Given the description of an element on the screen output the (x, y) to click on. 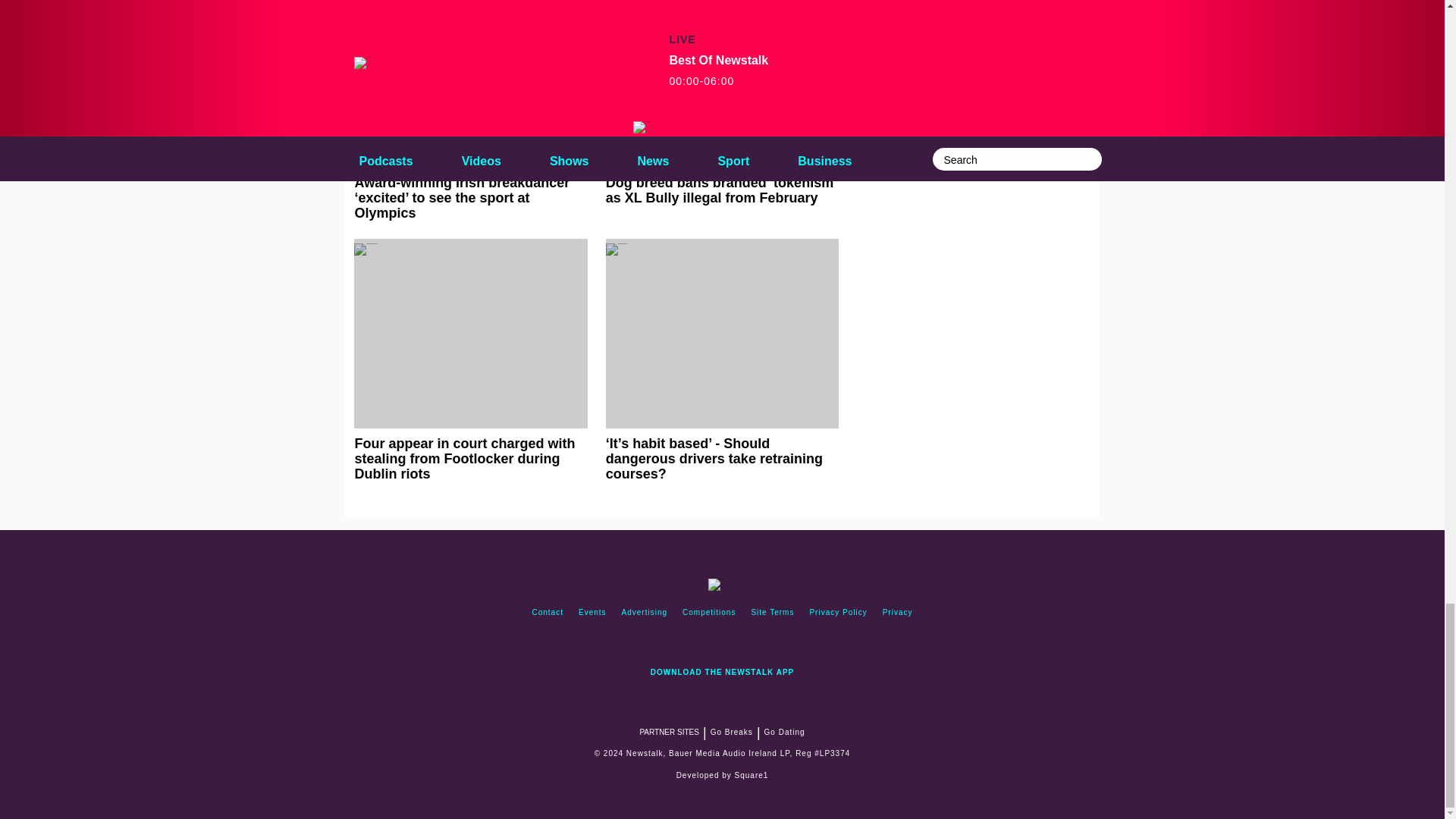
site terms (772, 612)
Privacy (897, 612)
contact (547, 612)
advertising (644, 612)
Privacy Policy (838, 612)
competitions (708, 612)
events (592, 612)
